Given the description of an element on the screen output the (x, y) to click on. 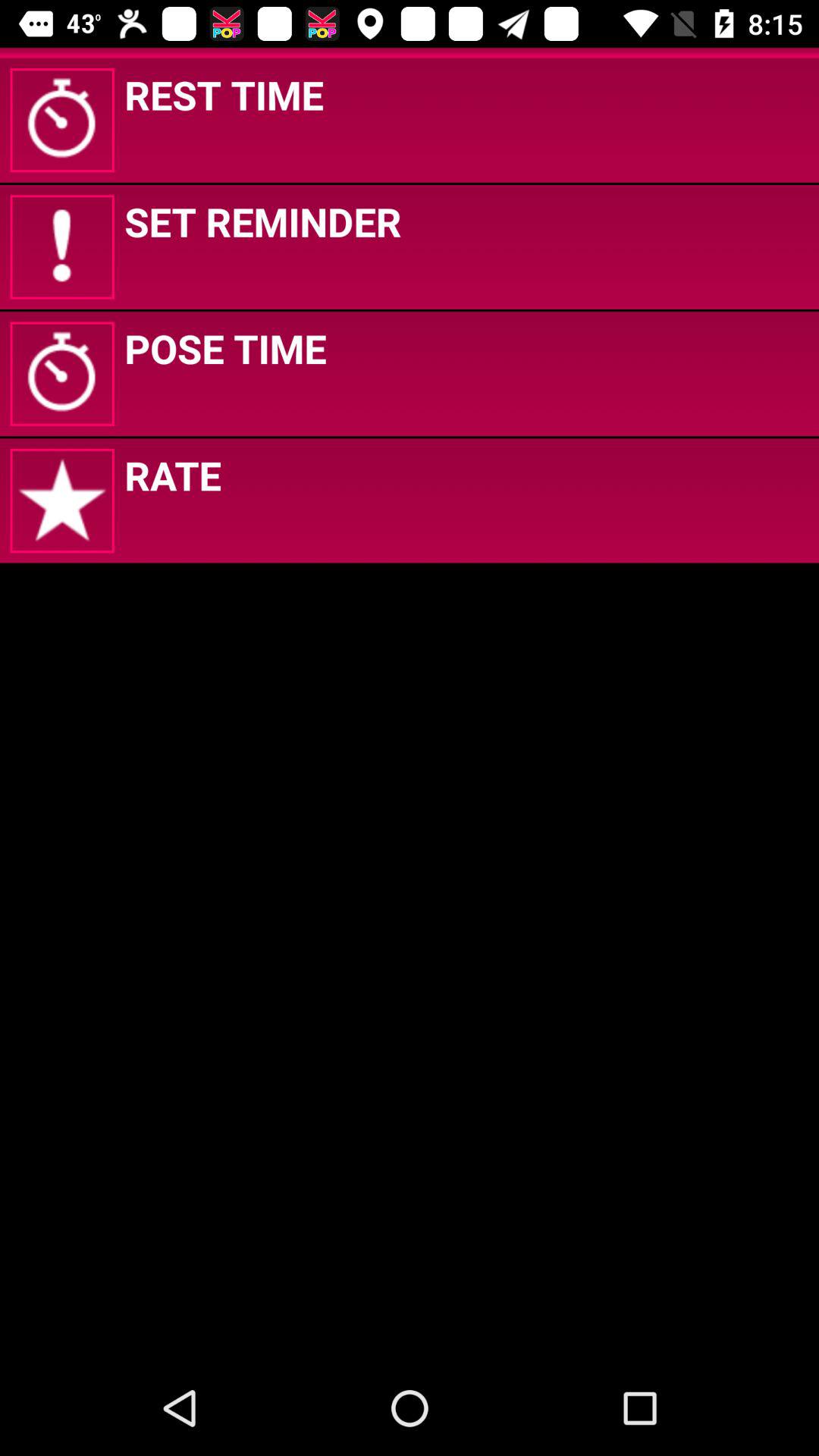
open the pose time app (225, 347)
